Given the description of an element on the screen output the (x, y) to click on. 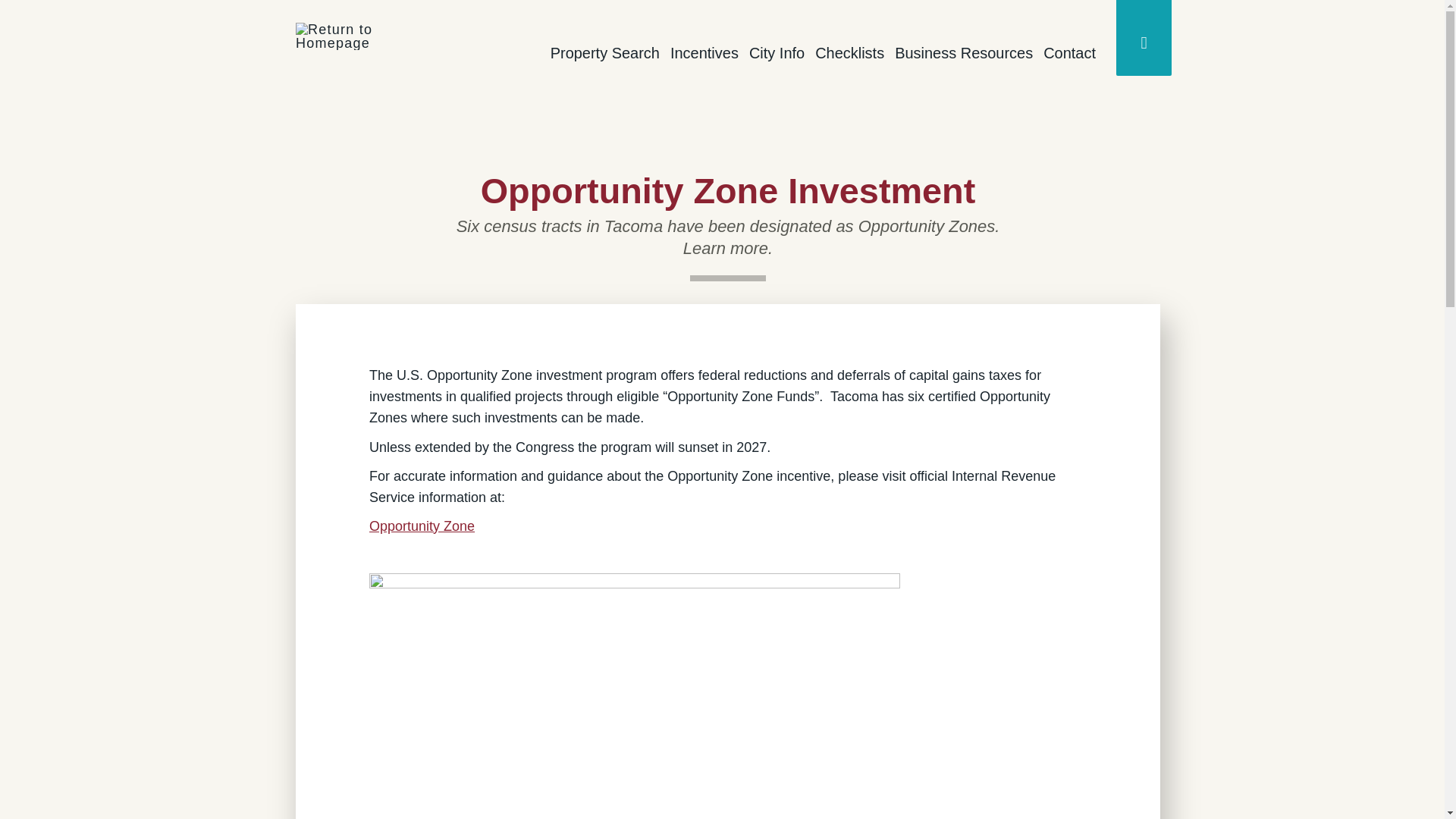
Skip to Page Content (117, 40)
Checklists (849, 53)
Business Resources (963, 53)
City Info (776, 53)
City of Tacoma (348, 24)
Property Search (604, 53)
Incentives (704, 53)
